Given the description of an element on the screen output the (x, y) to click on. 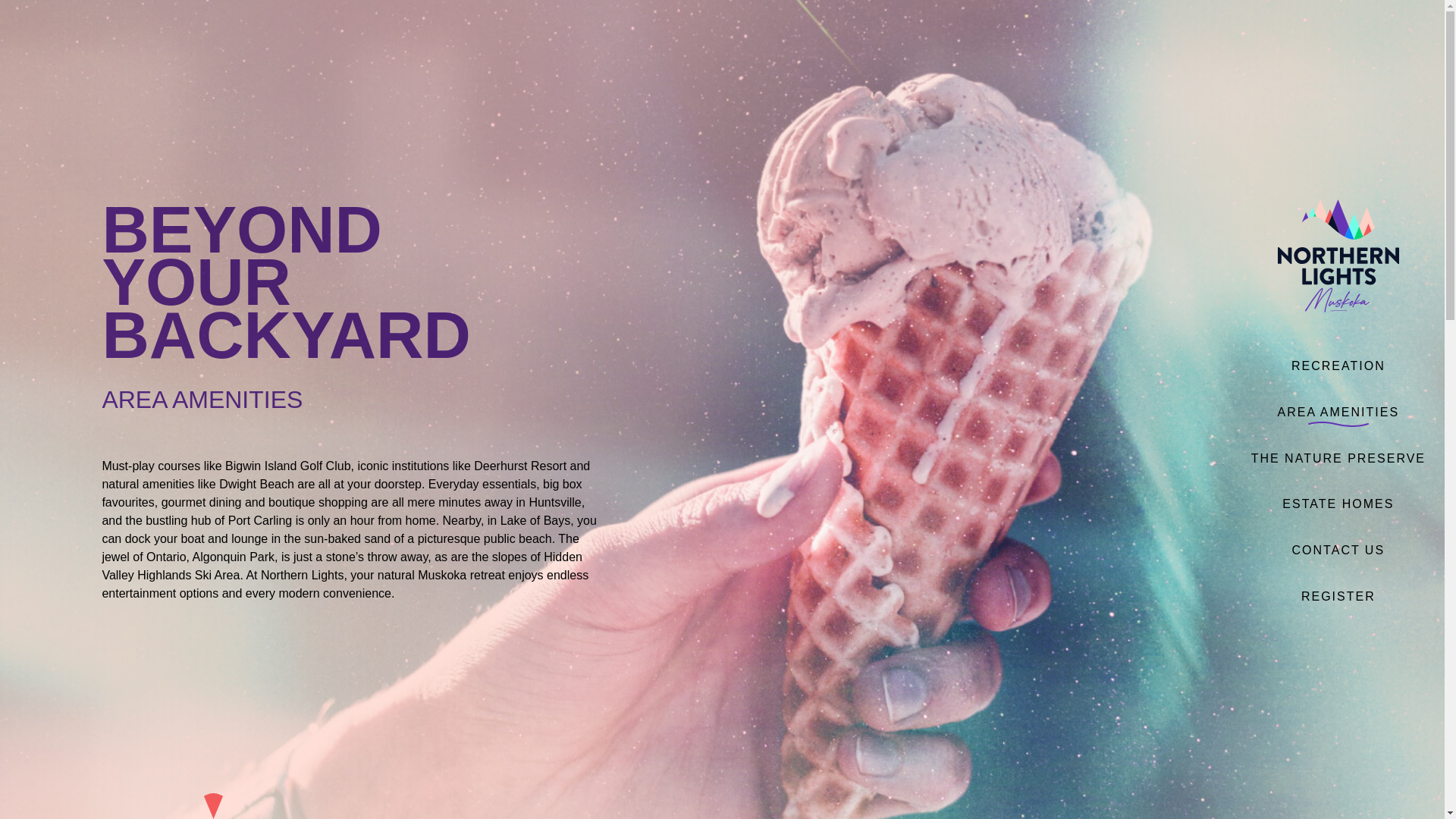
AREA AMENITIES (1337, 411)
RECREATION (1337, 366)
ESTATE HOMES (1337, 503)
CONTACT US (1337, 550)
THE NATURE PRESERVE (1337, 457)
REGISTER (1337, 596)
